Given the description of an element on the screen output the (x, y) to click on. 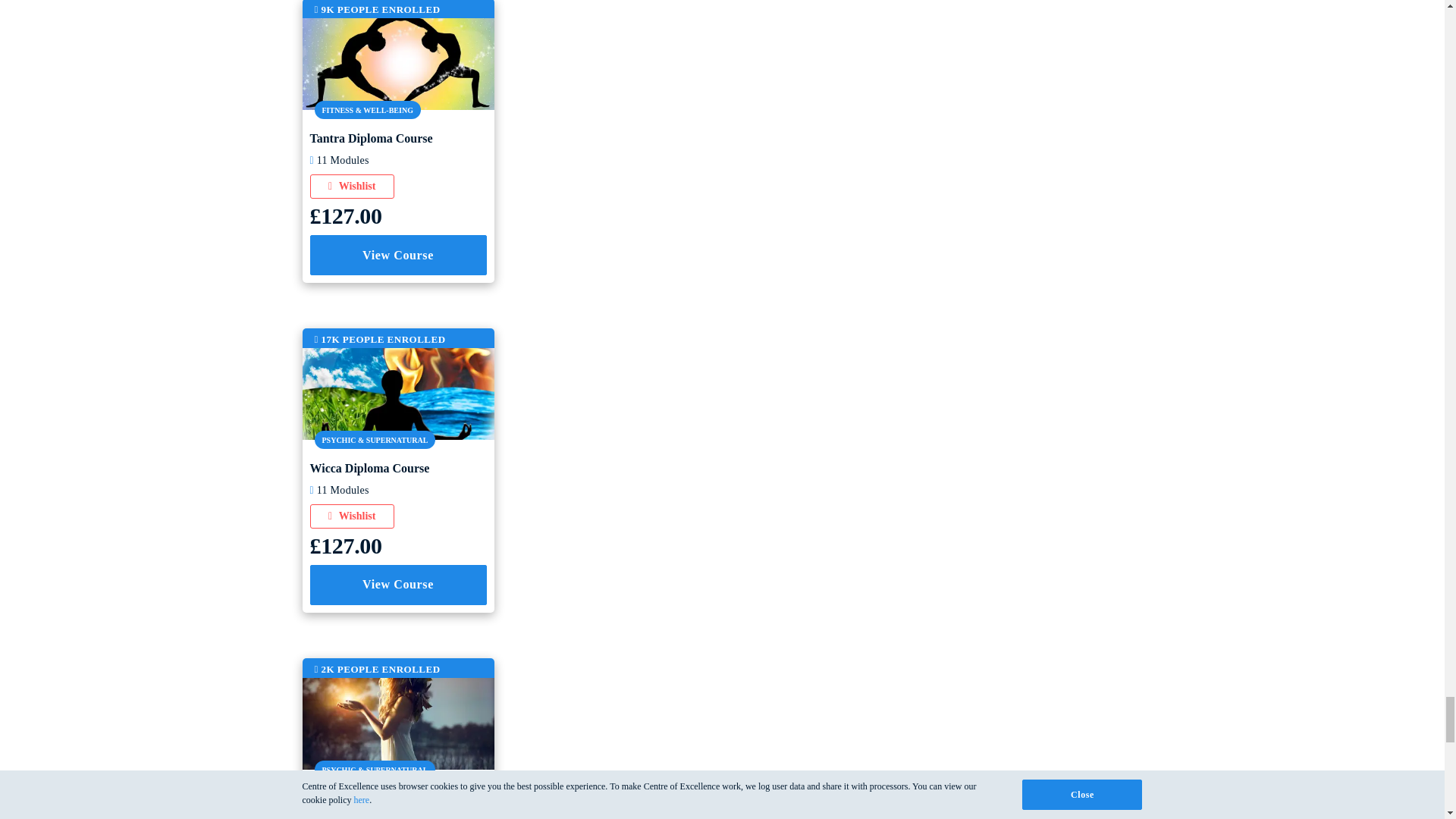
Wicca Diploma Course (397, 391)
Tantra Diploma Course (397, 62)
Natural Magic Diploma Course (397, 721)
